Given the description of an element on the screen output the (x, y) to click on. 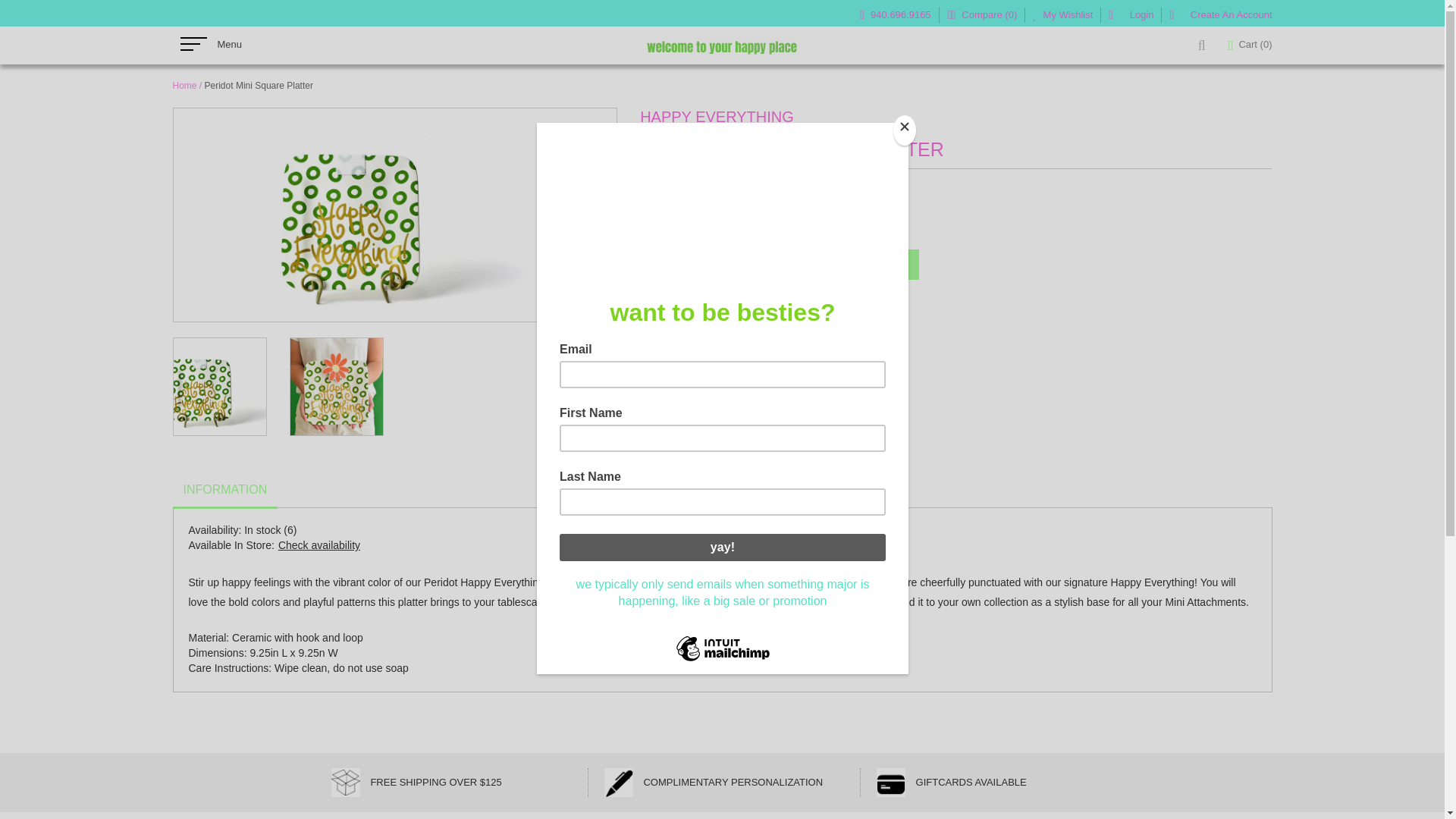
1 (748, 264)
